Given the description of an element on the screen output the (x, y) to click on. 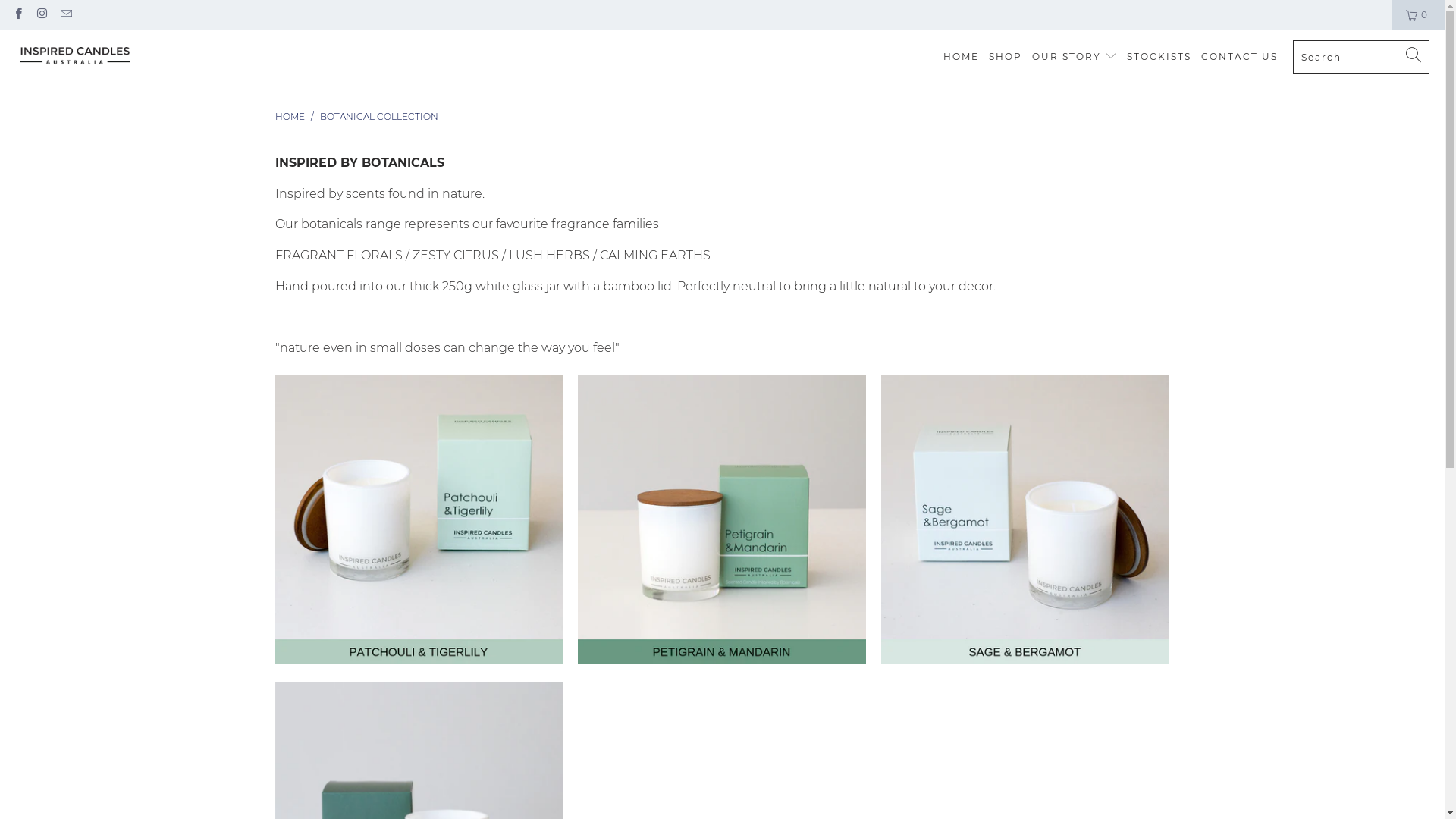
inspiredcandles on Instagram Element type: hover (40, 14)
SHOP Element type: text (1005, 56)
inspiredcandles Element type: hover (75, 56)
0 Element type: text (1417, 15)
BOTANICAL COLLECTION Element type: text (379, 116)
Email inspiredcandles Element type: hover (65, 14)
HOME Element type: text (289, 116)
HOME Element type: text (961, 56)
inspiredcandles on Facebook Element type: hover (17, 14)
CONTACT US Element type: text (1239, 56)
STOCKISTS Element type: text (1158, 56)
